Given the description of an element on the screen output the (x, y) to click on. 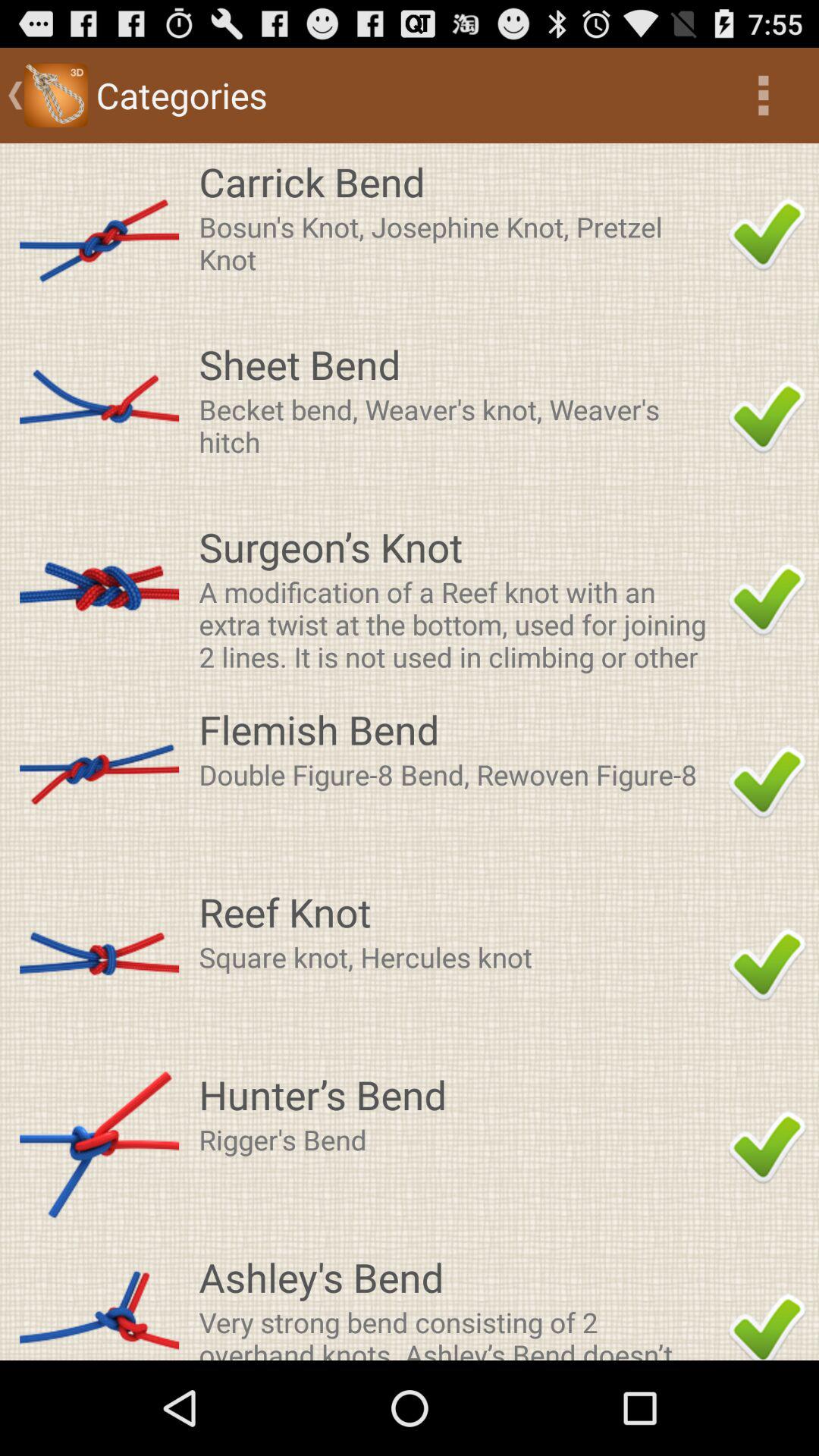
click the bosun s knot icon (459, 243)
